Given the description of an element on the screen output the (x, y) to click on. 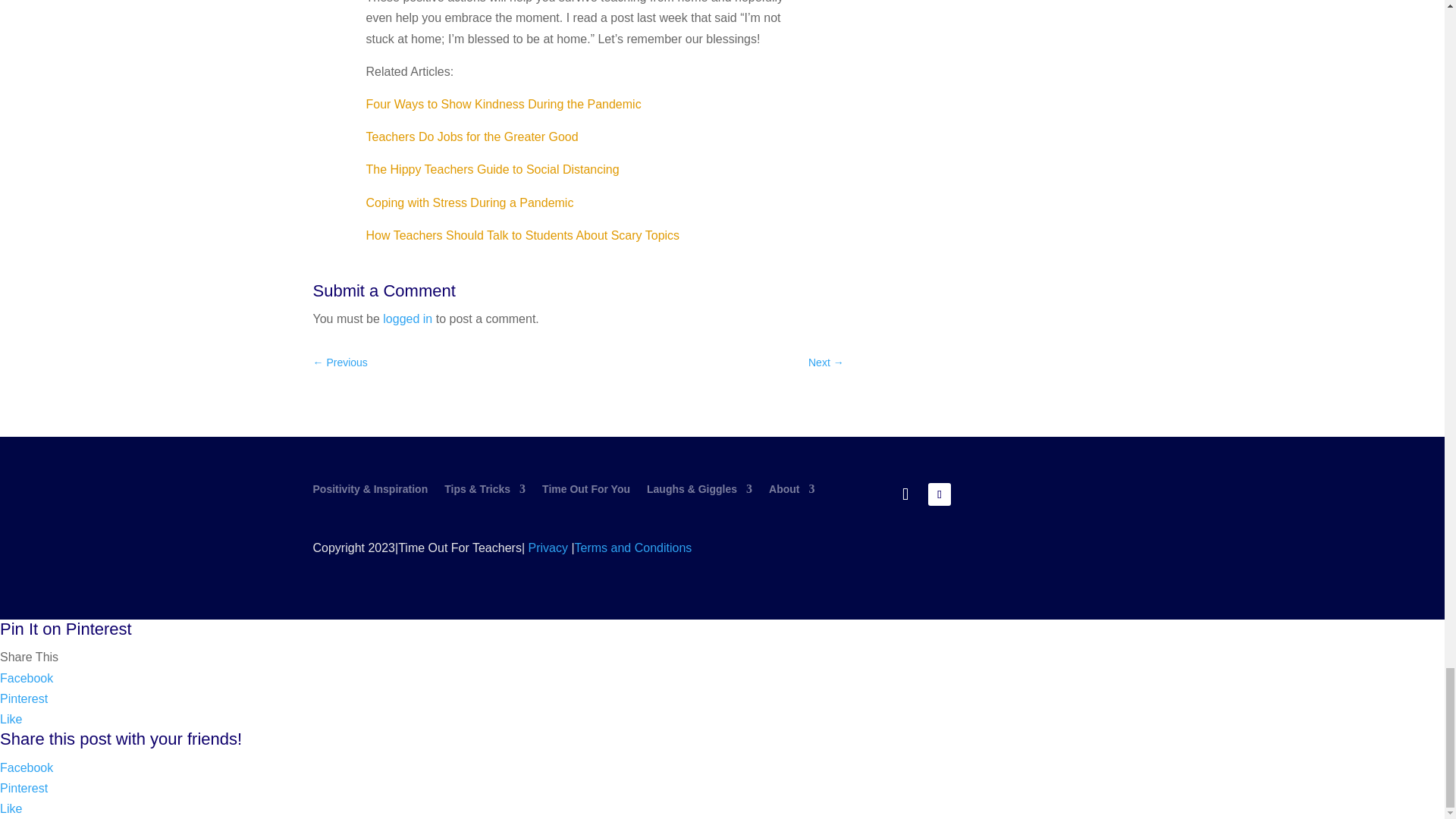
The Hippy Teachers Guide to Social Distancing (493, 169)
Follow on Pinterest (939, 494)
logged in (407, 318)
Four Ways to Show Kindness During the Pandemic (504, 103)
Coping with Stress During a Pandemic (469, 202)
How Teachers Should Talk to Students About Scary Topics (522, 235)
Teachers Do Jobs for the Greater Good (472, 136)
Follow on Facebook (904, 494)
